Given the description of an element on the screen output the (x, y) to click on. 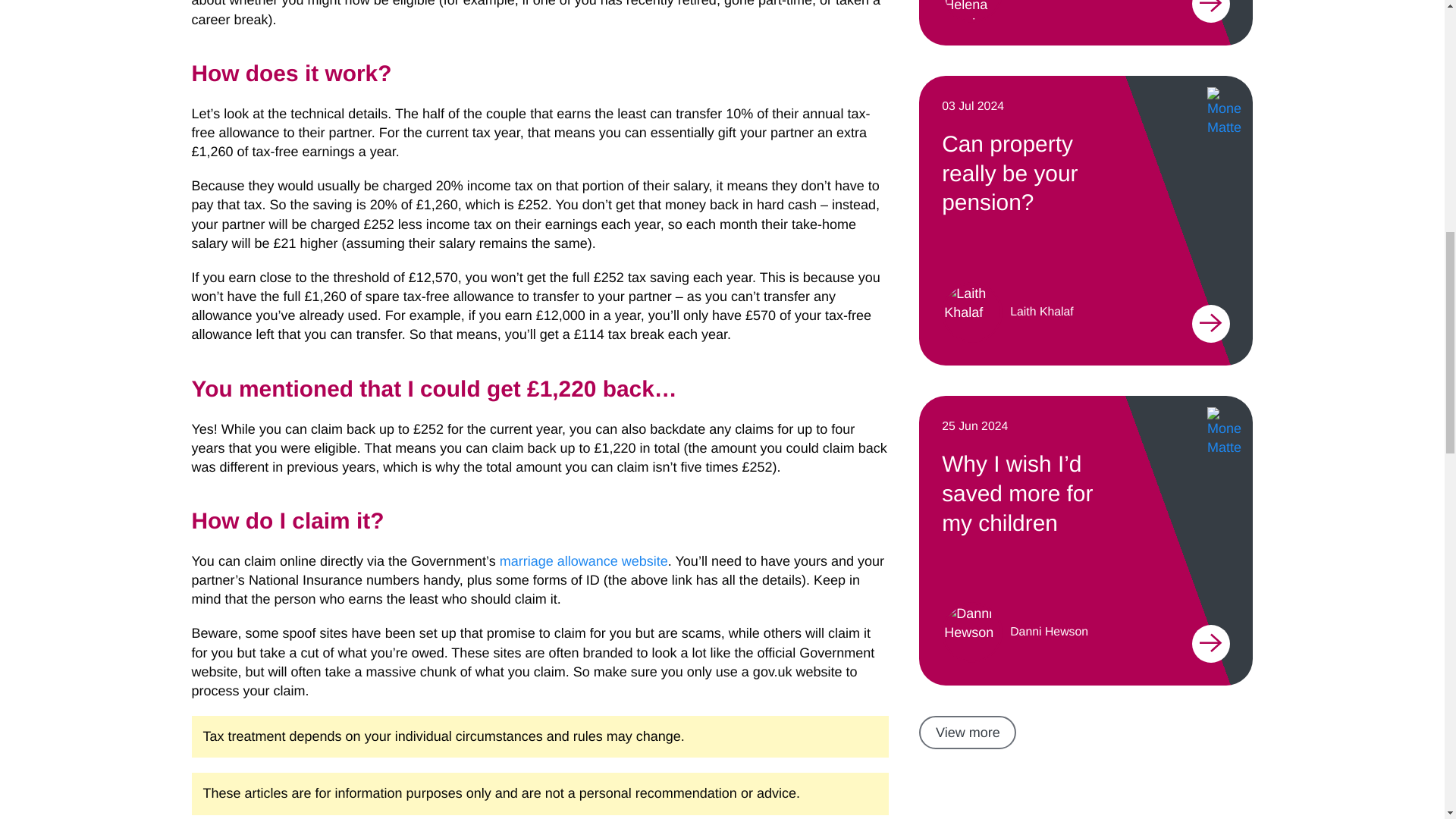
marriage allowance website (583, 560)
View more (967, 732)
